Given the description of an element on the screen output the (x, y) to click on. 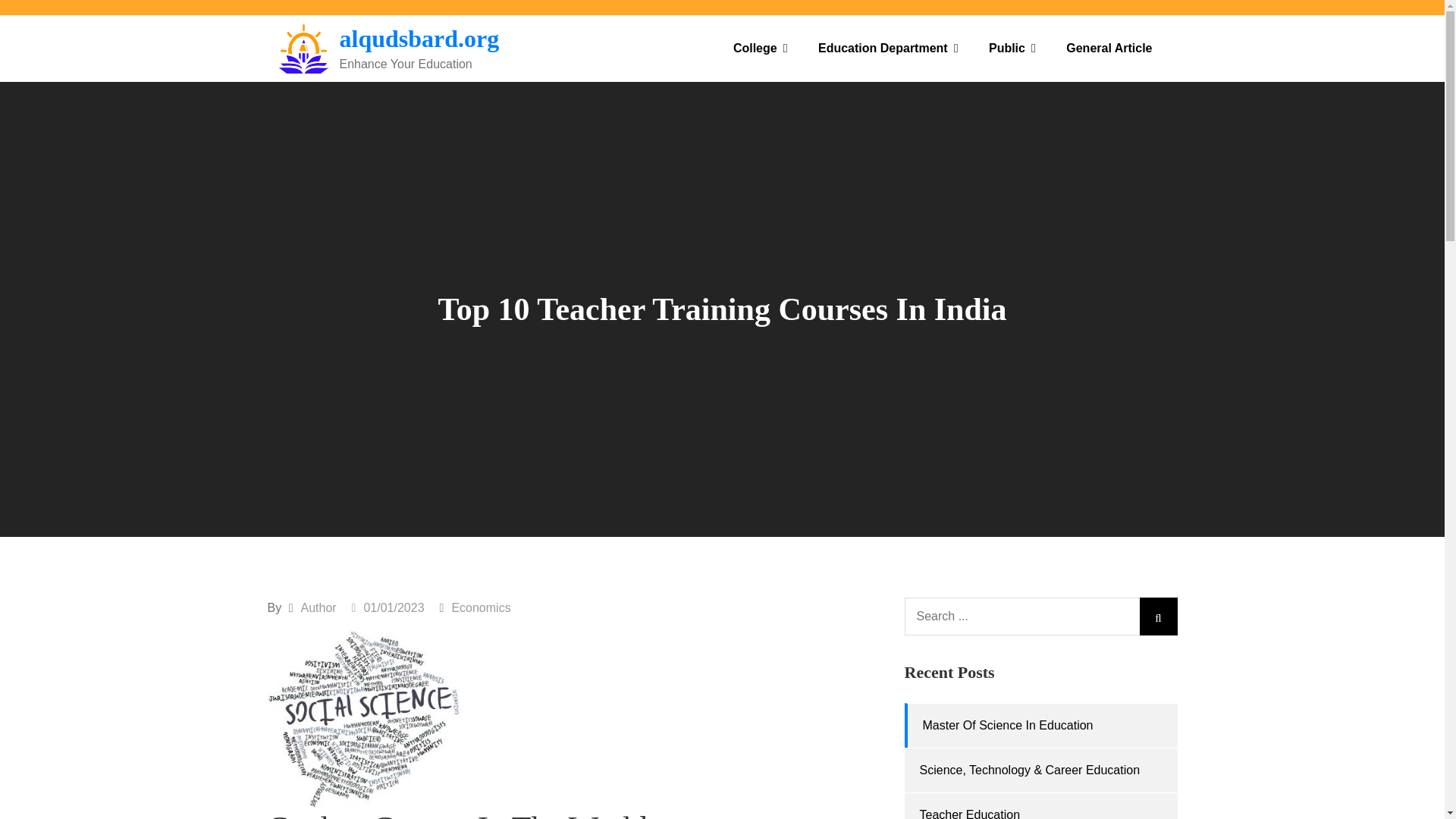
Search for: (1040, 616)
Economics (481, 607)
alqudsbard.org (419, 38)
College (760, 48)
Author (317, 607)
Public (1012, 48)
Education Department (888, 48)
General Article (1109, 48)
Search (1157, 616)
Master Of Science In Education (1007, 725)
